Given the description of an element on the screen output the (x, y) to click on. 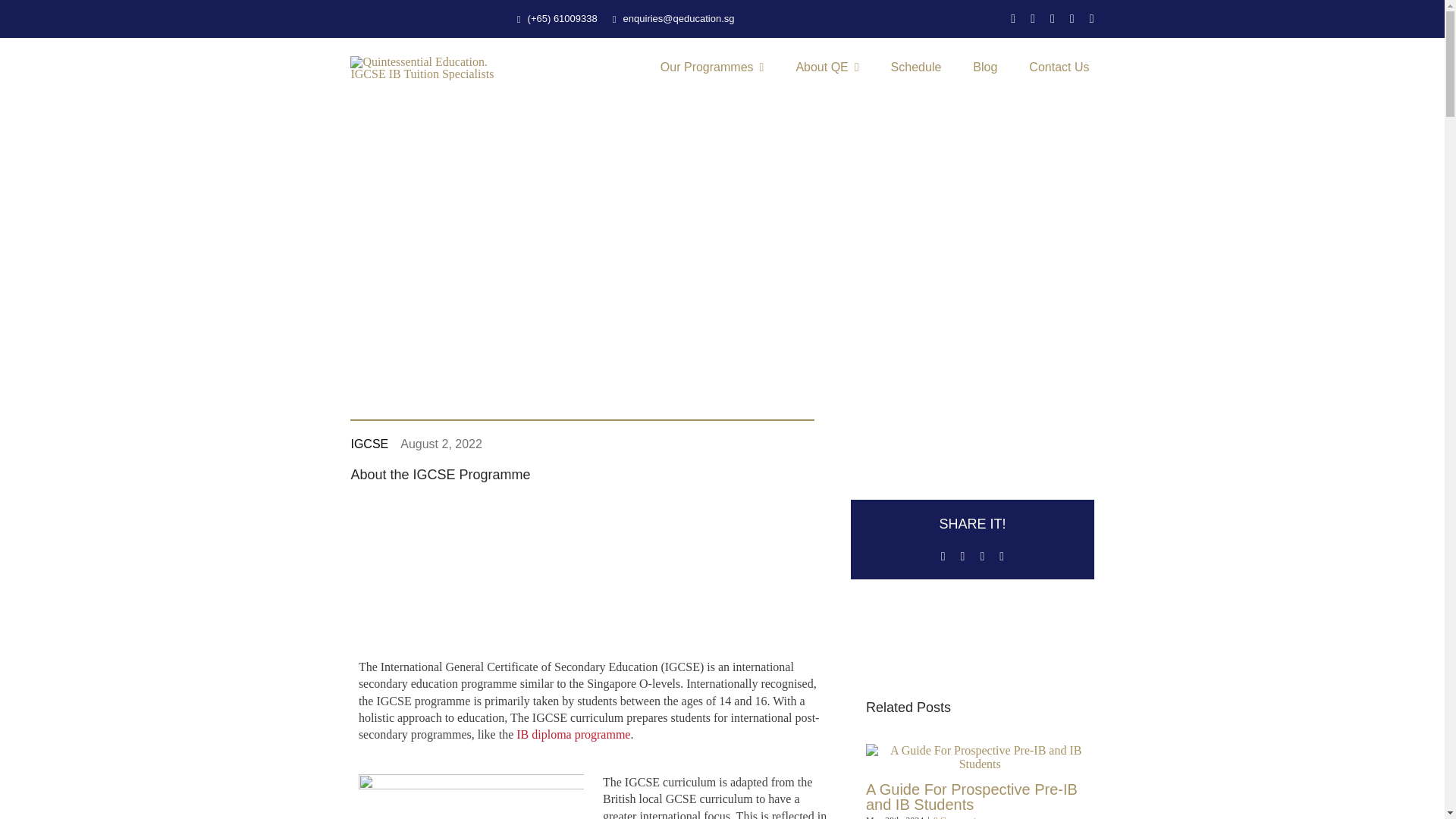
A Guide For Prospective Pre-IB and IB Students (971, 797)
igcse students (470, 796)
Our Programmes (712, 68)
IGCSE (369, 443)
Schedule (916, 68)
IGCSE (369, 443)
About QE (826, 68)
IB diploma programme (573, 734)
Contact Us (1059, 68)
